Given the description of an element on the screen output the (x, y) to click on. 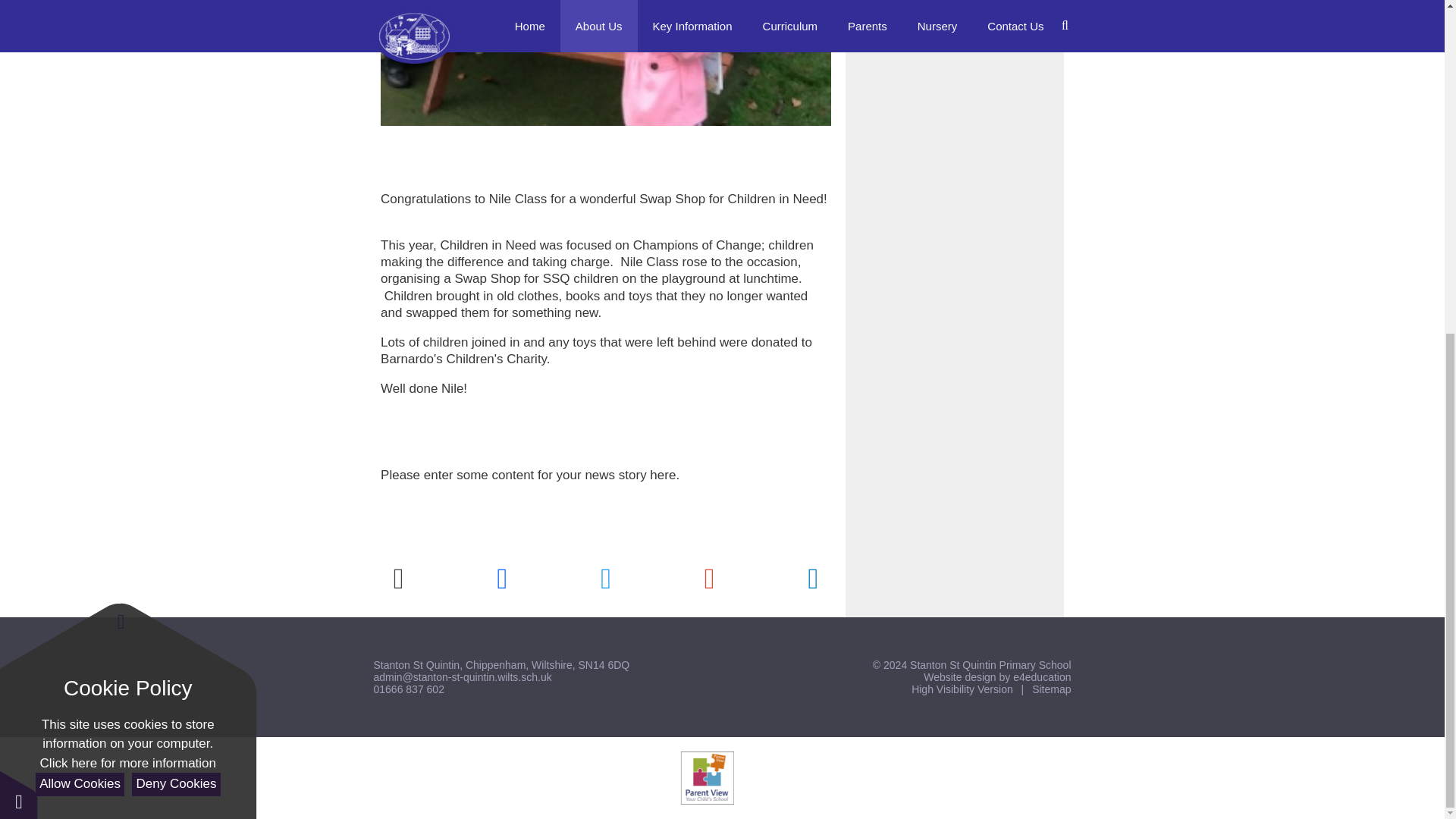
Allow Cookies (78, 227)
Click here for more information (127, 207)
Deny Cookies (175, 227)
High Visibility Version (962, 689)
Allow Cookies (78, 227)
Sitemap (1051, 689)
Deny Cookies (175, 227)
e4education (1041, 676)
Parent View (707, 777)
See cookie policy (127, 207)
